Given the description of an element on the screen output the (x, y) to click on. 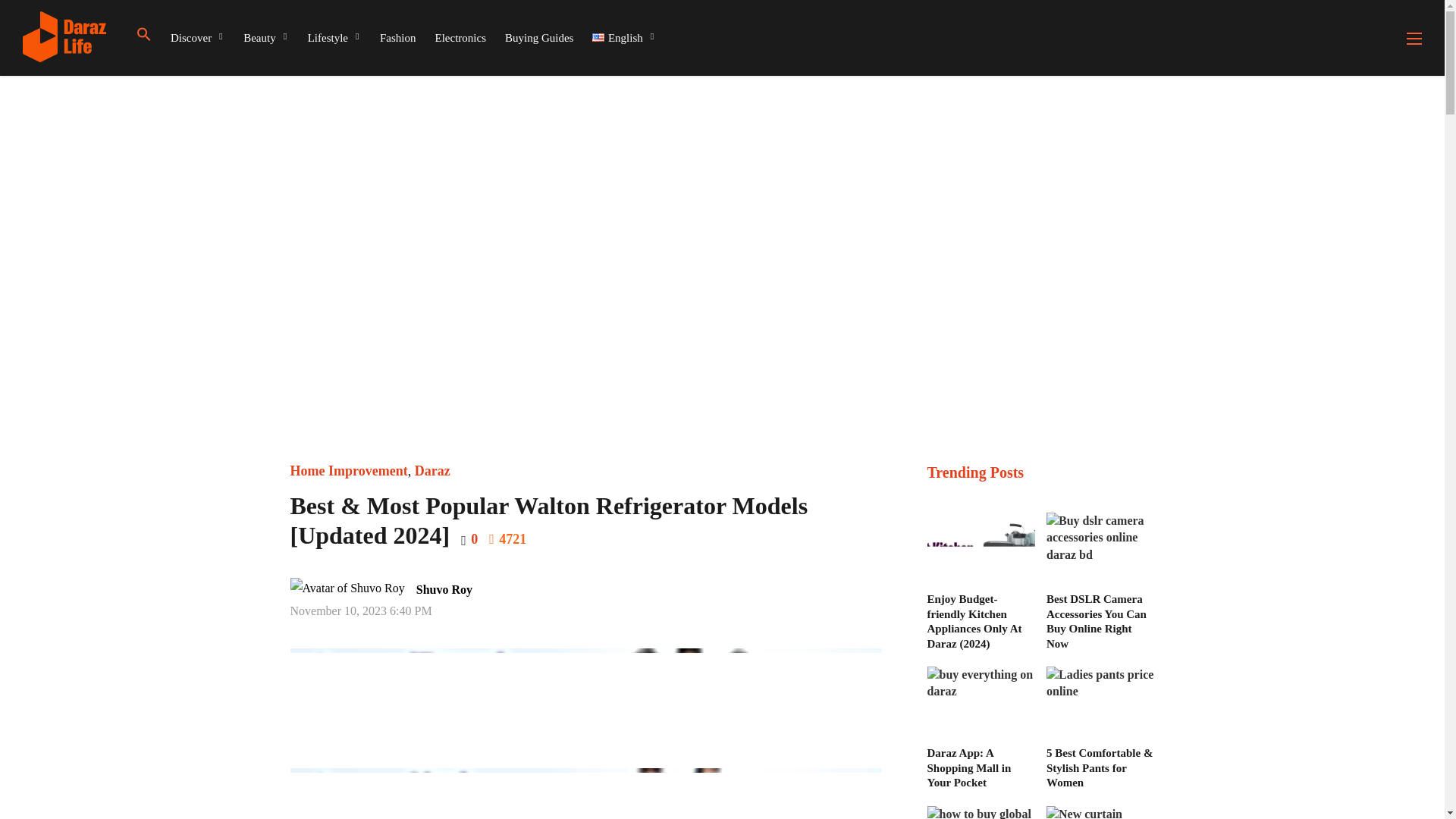
Home Improvement (348, 470)
Views (507, 539)
Buying Guides (539, 38)
View all posts by Shuvo Roy (434, 589)
Just Daraz It (112, 31)
Daraz (431, 470)
